Given the description of an element on the screen output the (x, y) to click on. 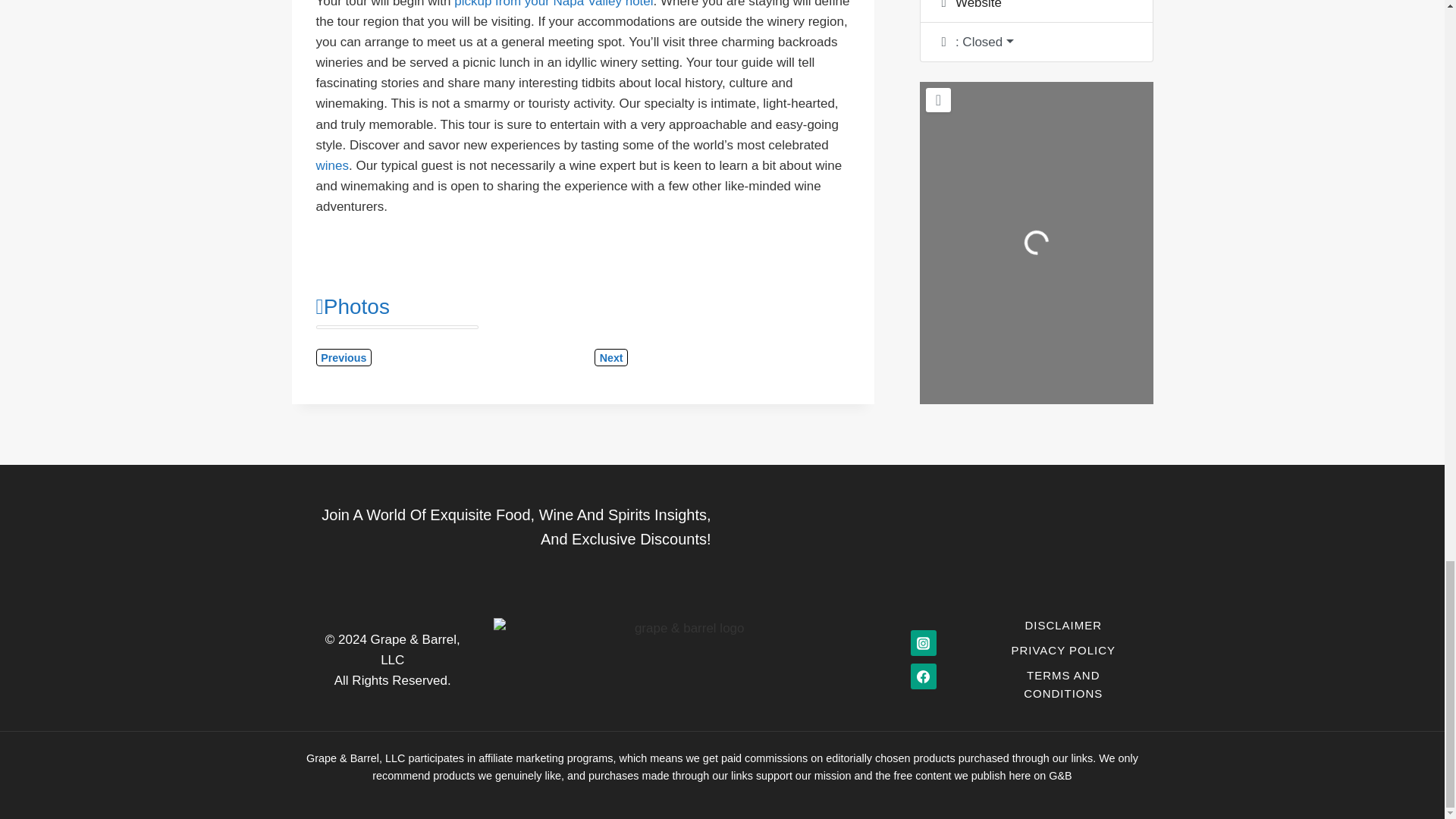
Photos (351, 306)
Small Group Napa Valley Tour (553, 4)
Previous (343, 357)
pickup from your Napa Valley hotel (553, 4)
wines (331, 165)
Next (610, 357)
